Given the description of an element on the screen output the (x, y) to click on. 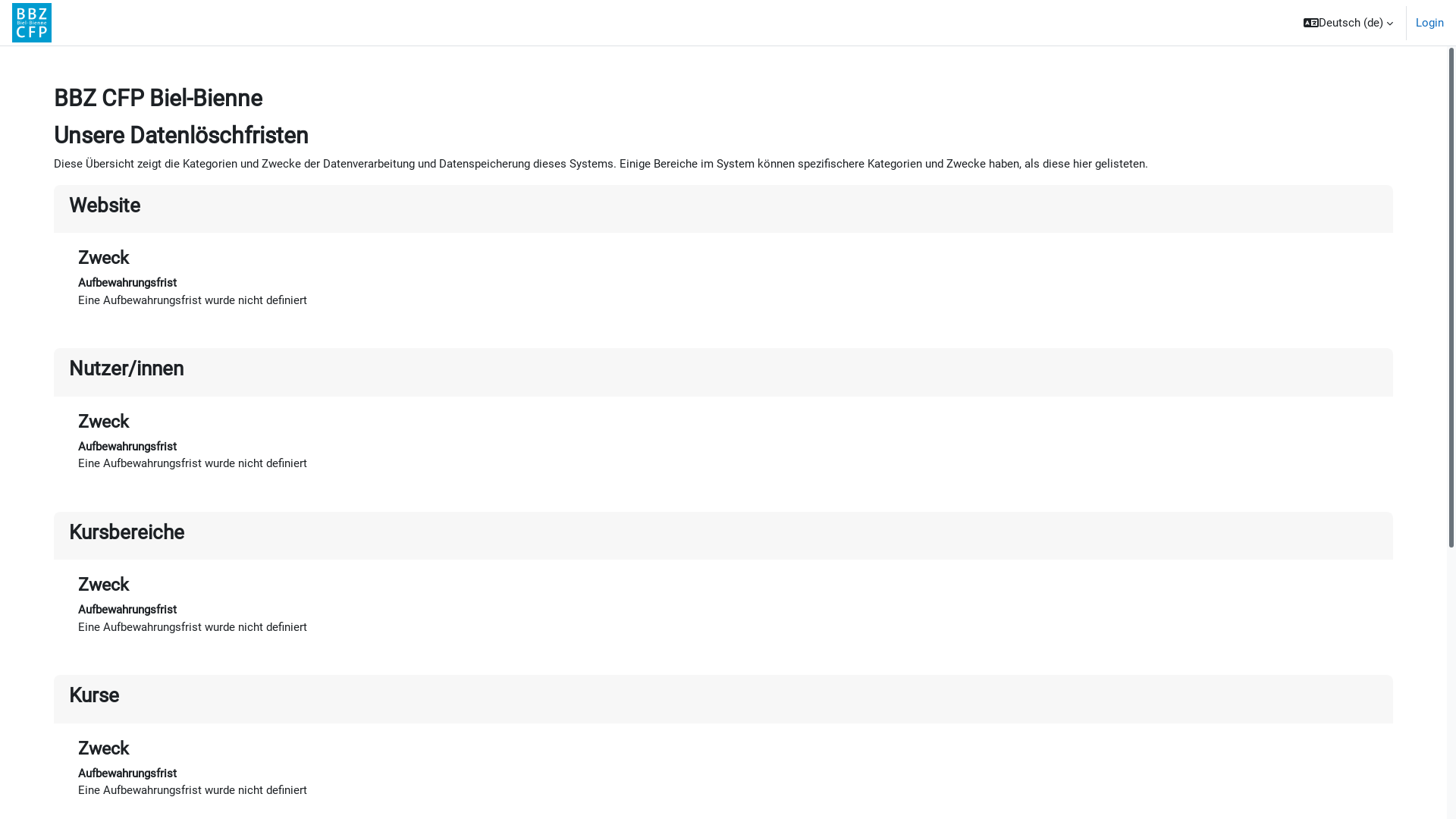
Login Element type: text (1429, 22)
Deutsch (de) Element type: text (1347, 22)
